Given the description of an element on the screen output the (x, y) to click on. 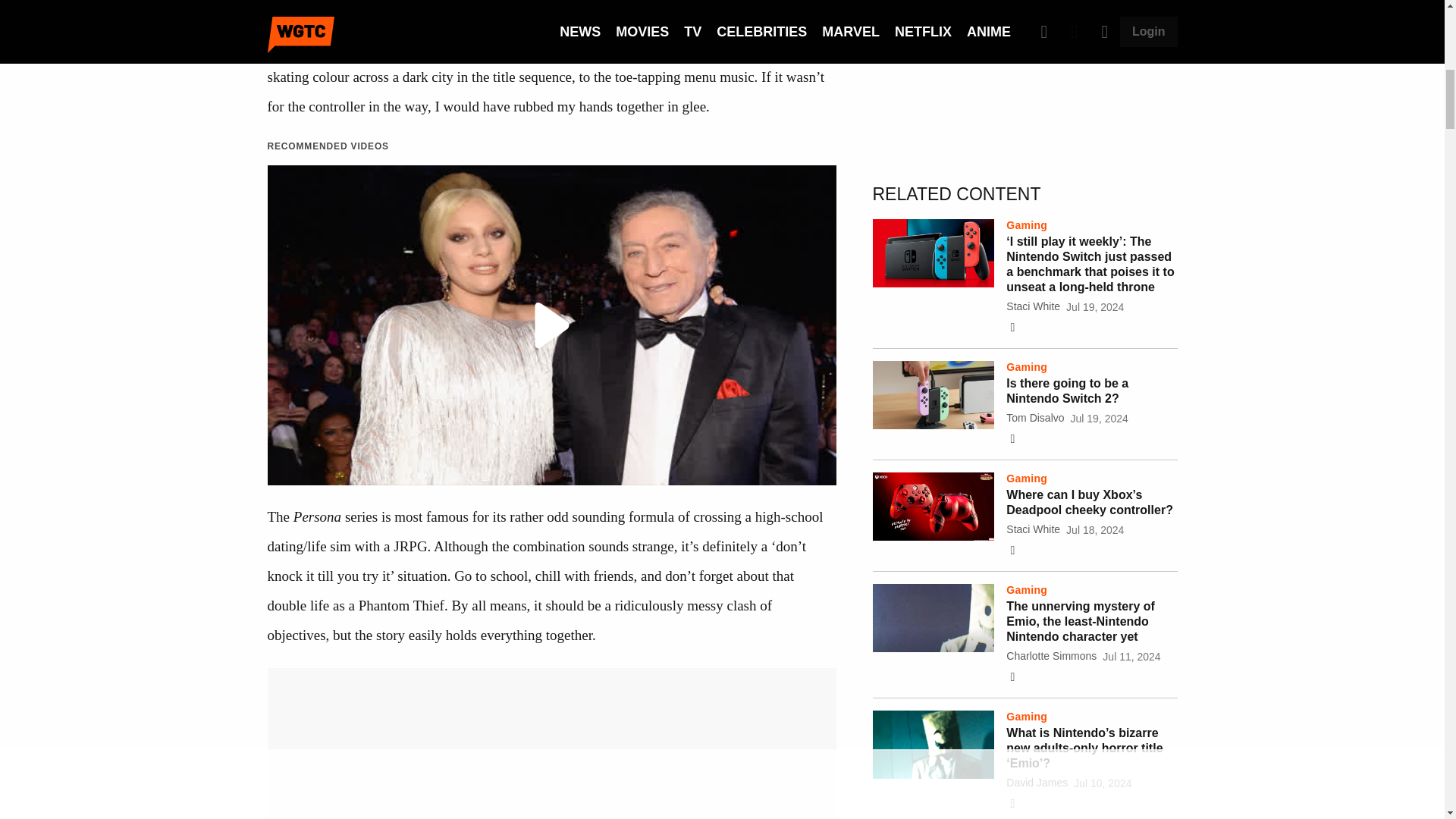
3rd party ad content (1024, 65)
